Given the description of an element on the screen output the (x, y) to click on. 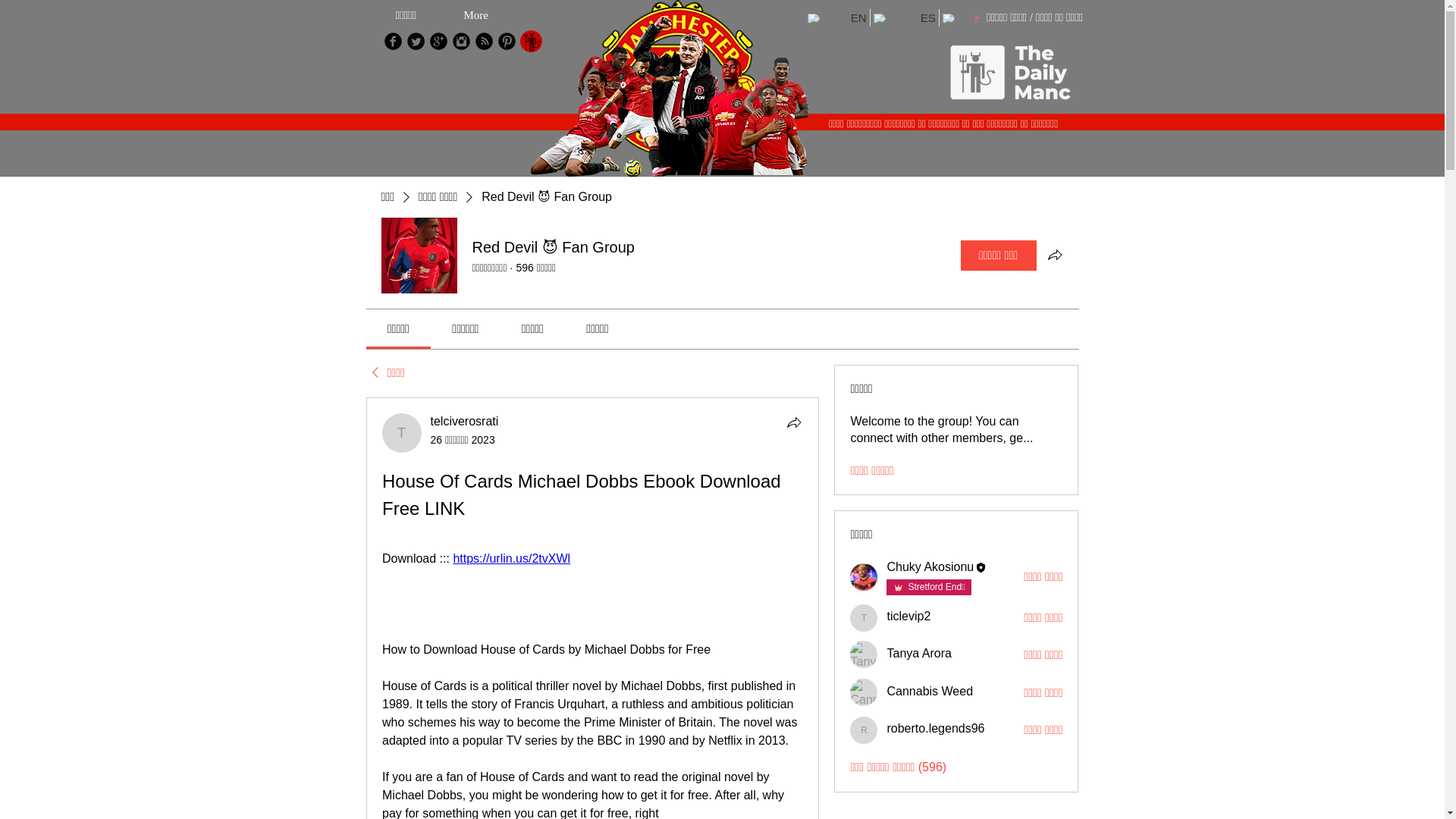
Chuky Akosionu (863, 576)
EN (836, 17)
HI (963, 17)
roberto.legends96 (863, 729)
Tanya Arora (863, 654)
ES (904, 17)
ticlevip2 (863, 617)
telciverosrati (464, 420)
telciverosrati (401, 432)
ticlevip2 (908, 615)
Cannabis Weed (863, 691)
Chuky Akosionu (930, 566)
